Given the description of an element on the screen output the (x, y) to click on. 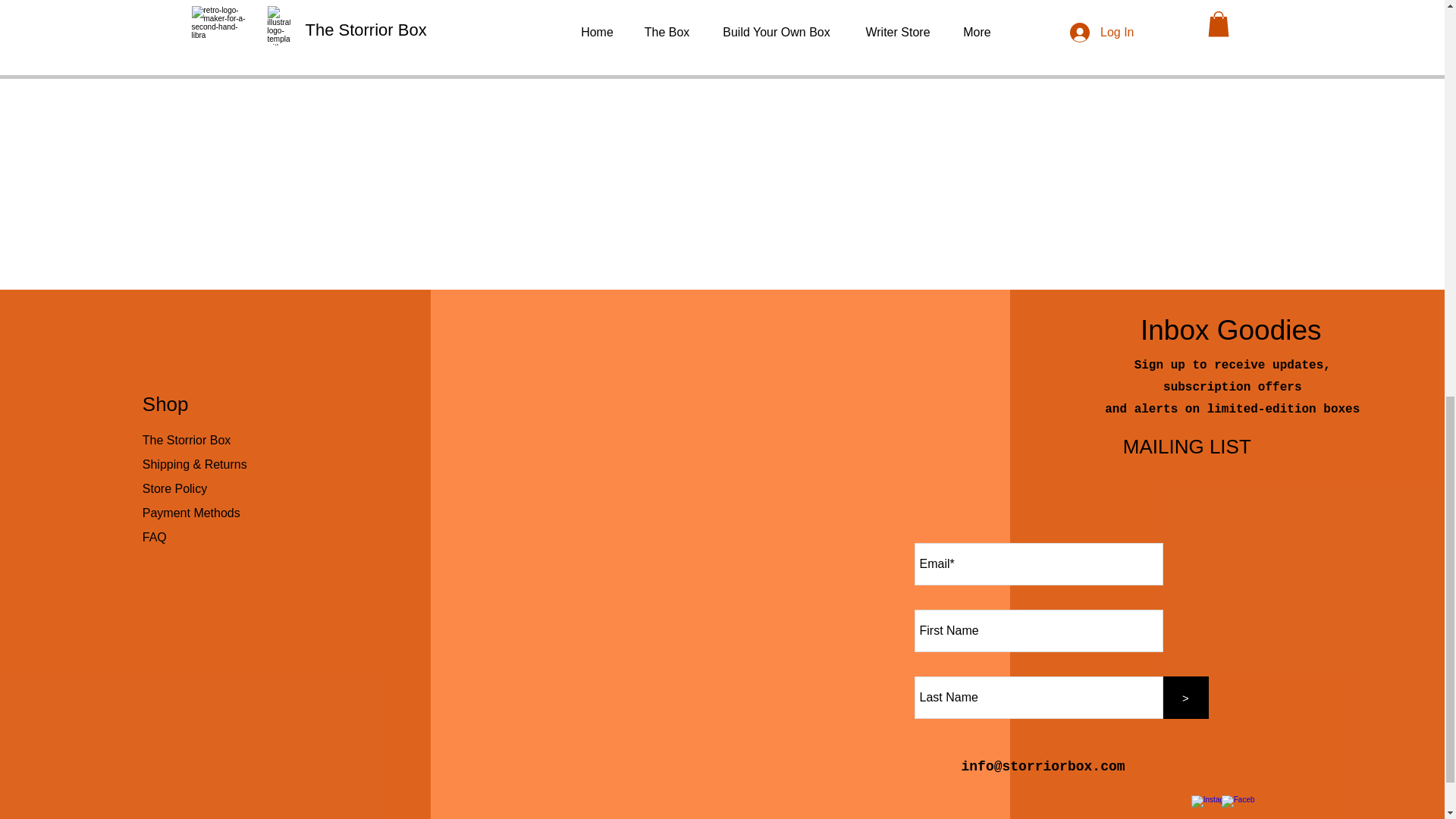
Store Policy (174, 488)
FAQ (154, 536)
The Storrior Box (186, 440)
Payment Methods  (192, 512)
